Given the description of an element on the screen output the (x, y) to click on. 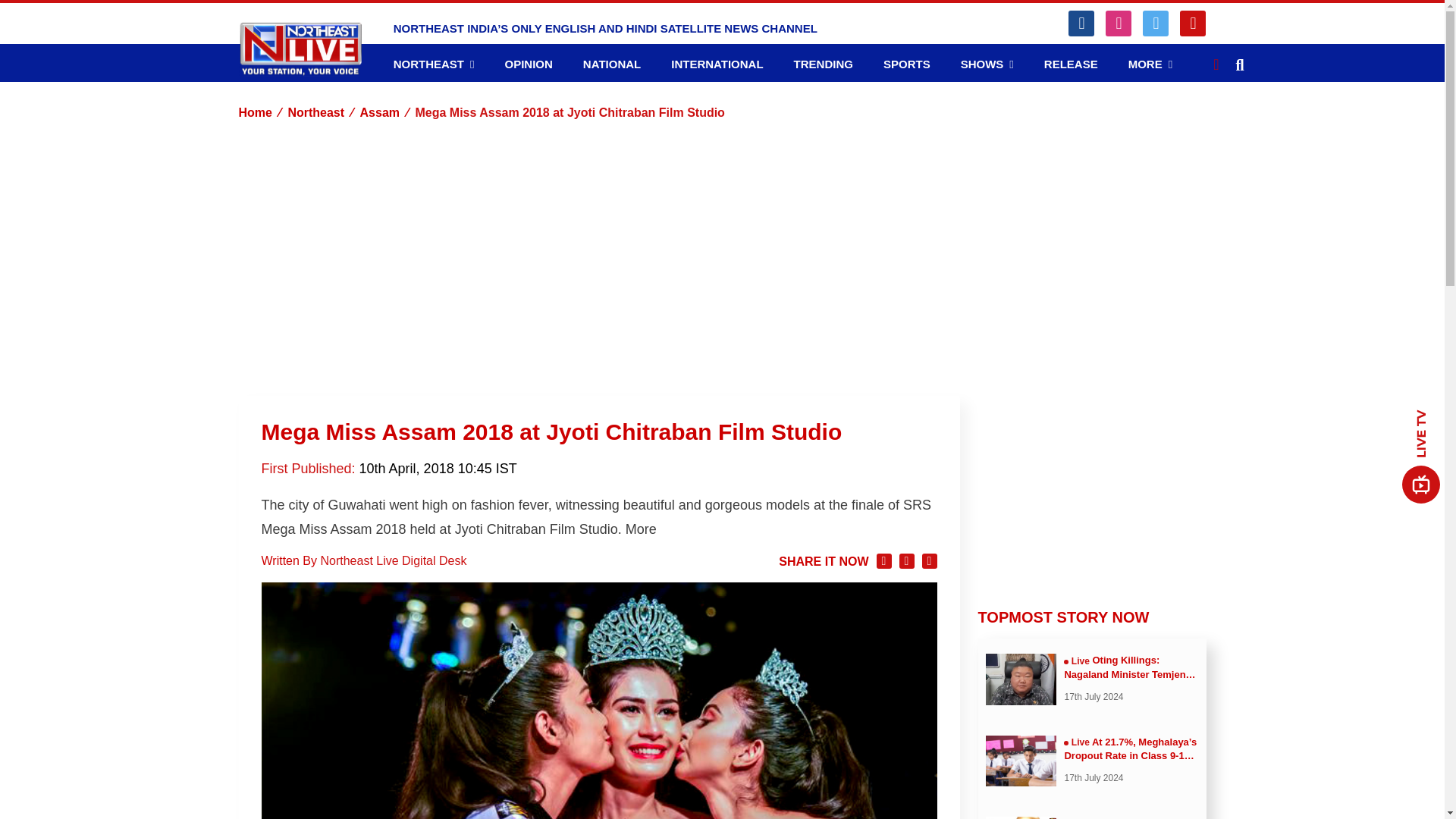
NORTHEAST (433, 64)
SPORTS (906, 63)
NATIONAL (611, 63)
SHOWS (986, 64)
TRENDING (823, 63)
OPINION (527, 63)
Advertisement (1092, 490)
INTERNATIONAL (716, 63)
Logo (299, 49)
